Given the description of an element on the screen output the (x, y) to click on. 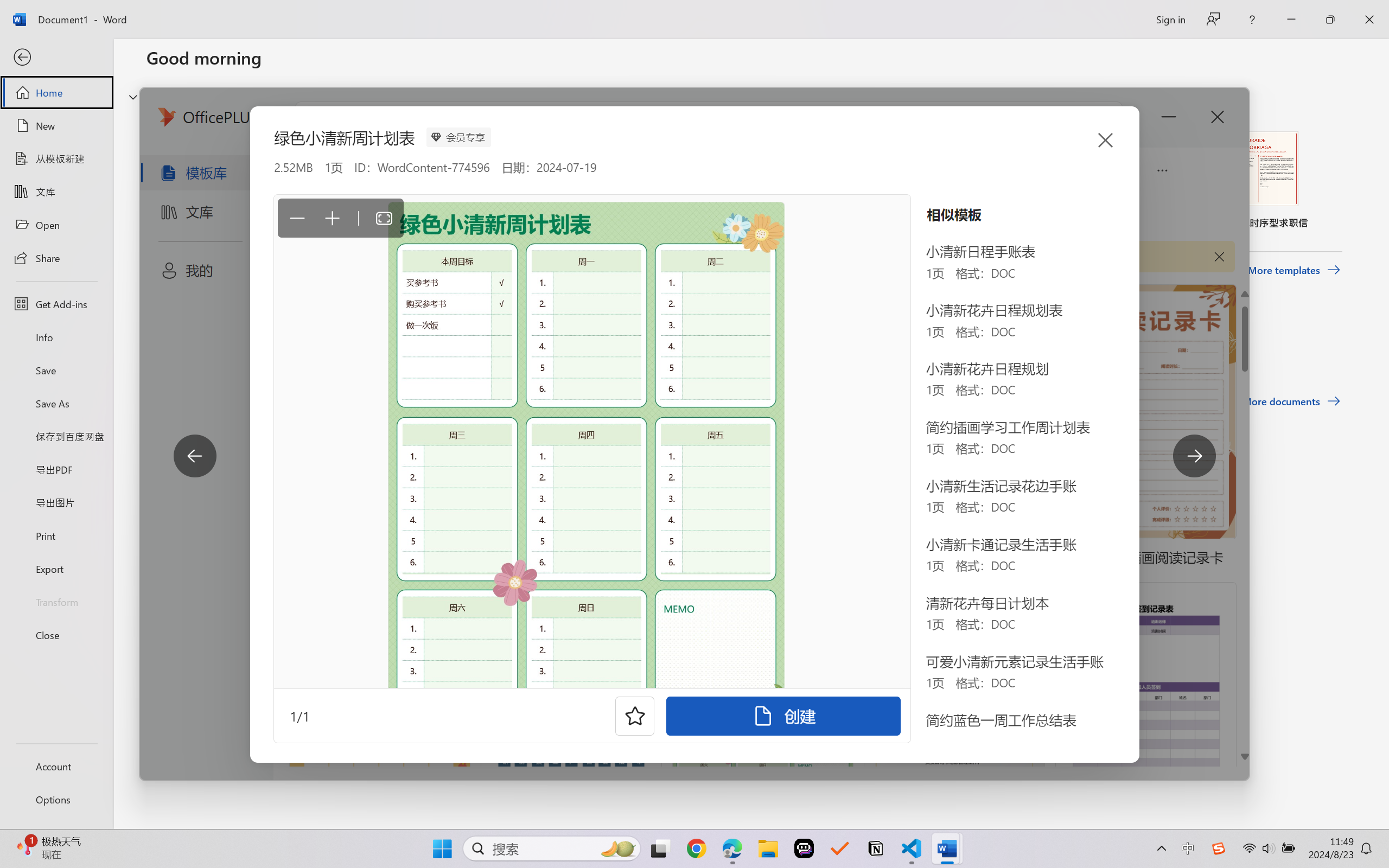
Blank document (219, 180)
Back (56, 57)
Get Add-ins (56, 303)
Sign in (1170, 18)
New (56, 125)
